Given the description of an element on the screen output the (x, y) to click on. 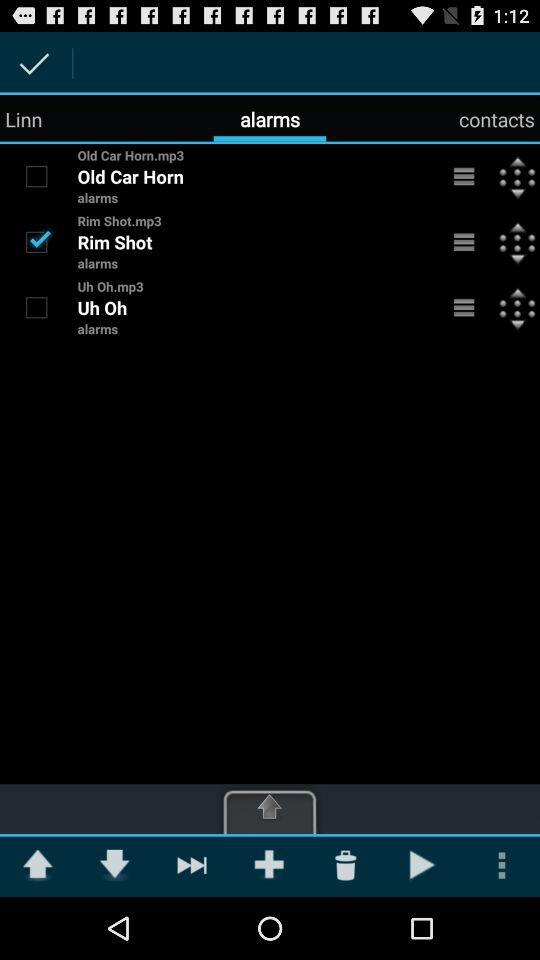
open settings (463, 175)
